Given the description of an element on the screen output the (x, y) to click on. 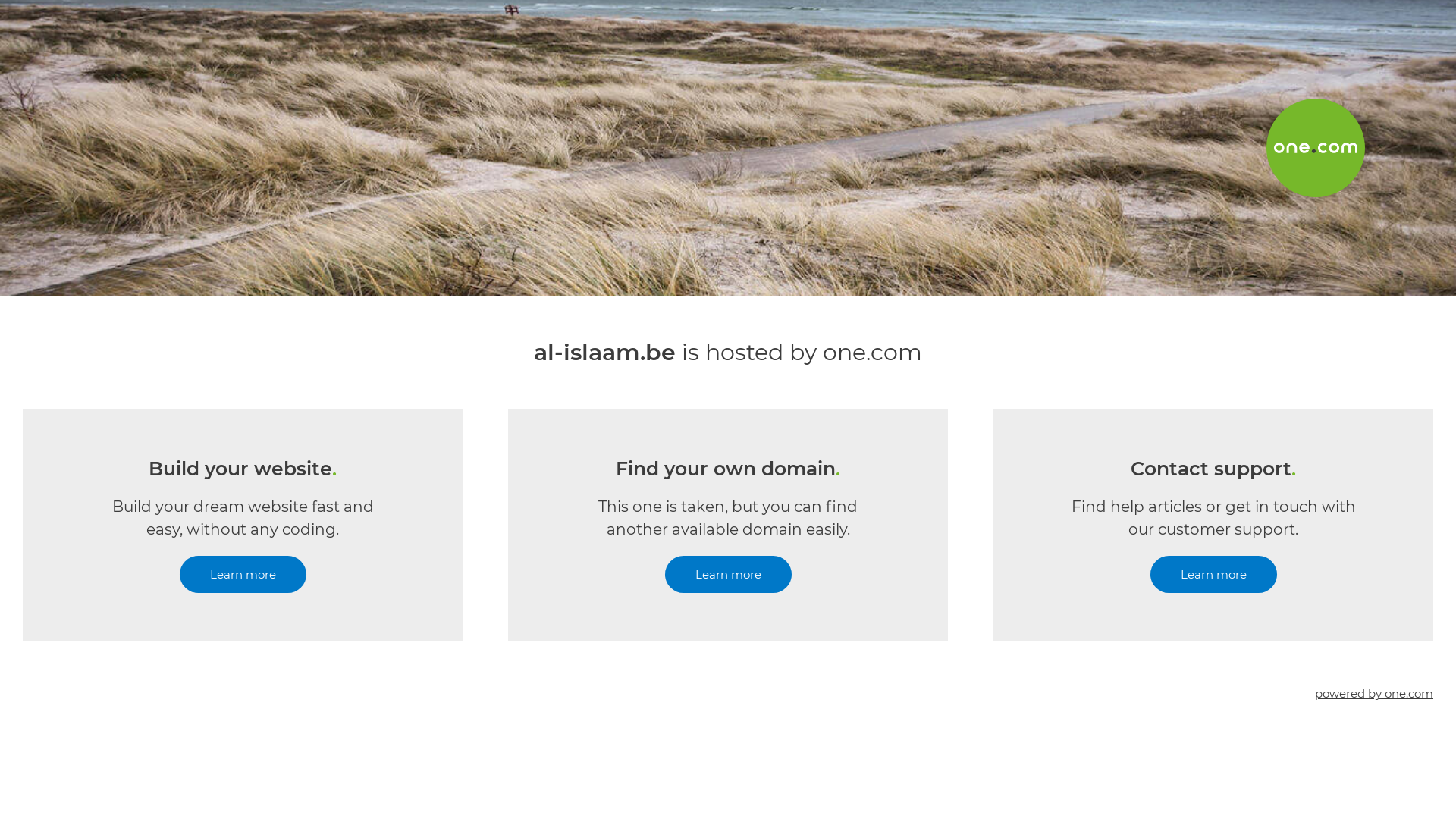
Learn more Element type: text (241, 574)
Learn more Element type: text (1212, 574)
powered by one.com Element type: text (1373, 693)
Learn more Element type: text (727, 574)
